Given the description of an element on the screen output the (x, y) to click on. 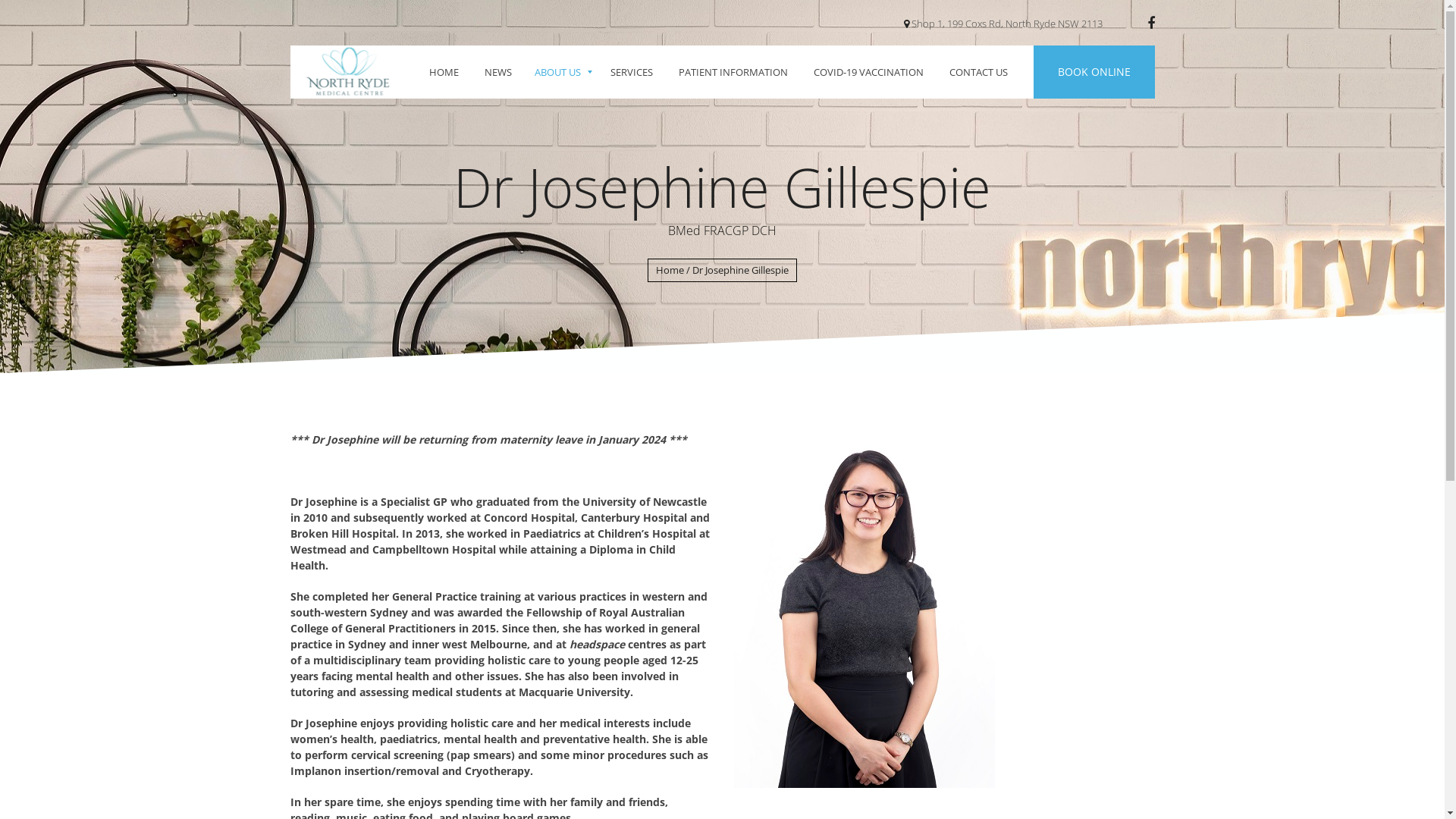
BOOK ONLINE Element type: text (1087, 71)
COVID-19 VACCINATION Element type: text (868, 71)
CONTACT US Element type: text (977, 71)
NEWS Element type: text (497, 71)
ABOUT US Element type: text (560, 71)
HOME Element type: text (442, 71)
Shop 1, 199 Coxs Rd, North Ryde NSW 2113    Element type: text (1008, 23)
PATIENT INFORMATION Element type: text (732, 71)
SERVICES Element type: text (631, 71)
Home Element type: text (669, 269)
